Given the description of an element on the screen output the (x, y) to click on. 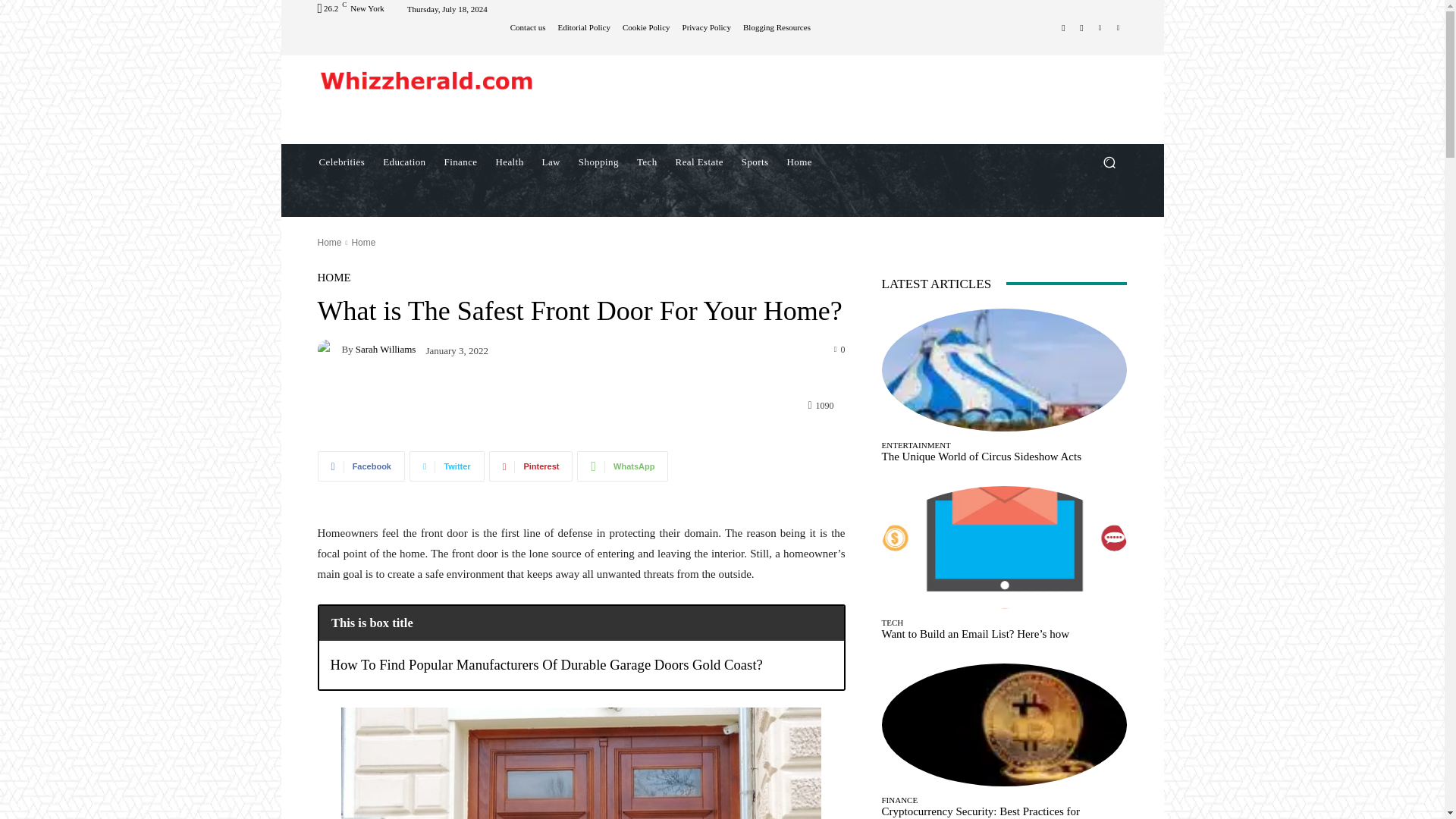
Education (403, 162)
Celebrities (341, 162)
Blogging Resources (776, 27)
Twitter (446, 466)
WhatsApp (622, 466)
Privacy Policy (706, 27)
Instagram (1080, 27)
Twitter (1117, 27)
Law (550, 162)
View all posts in Home (362, 242)
Sports (754, 162)
Editorial Policy (583, 27)
Home (799, 162)
Cookie Policy (646, 27)
Shopping (598, 162)
